Given the description of an element on the screen output the (x, y) to click on. 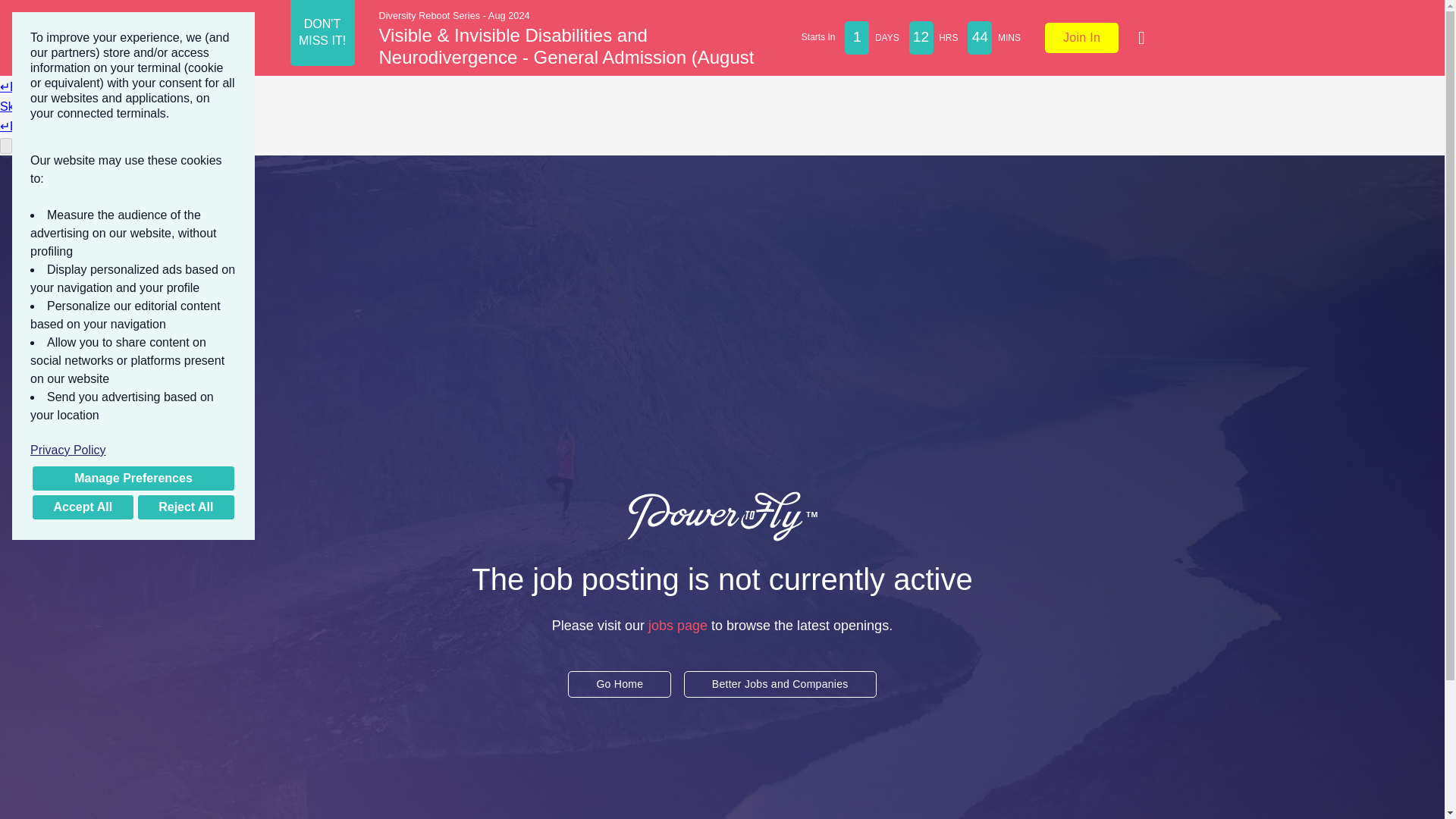
Go Home (619, 682)
jobs page (677, 619)
Manage Preferences (133, 478)
Privacy Policy (132, 450)
Reject All (185, 507)
Better Jobs and Companies (780, 683)
Accept All (82, 507)
PowerToFly (721, 515)
